Given the description of an element on the screen output the (x, y) to click on. 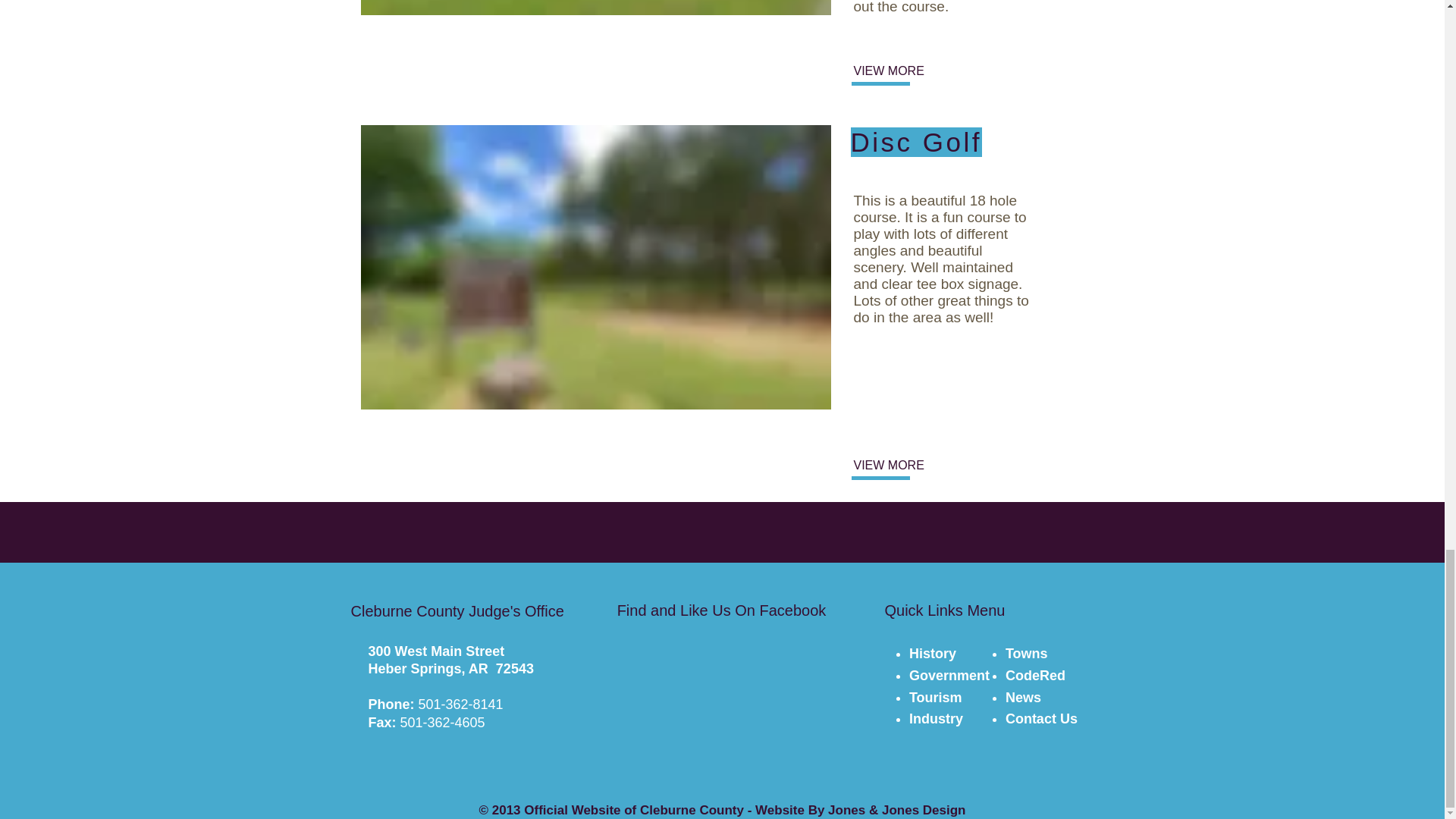
VIEW MORE (903, 71)
VIEW MORE (903, 465)
